Given the description of an element on the screen output the (x, y) to click on. 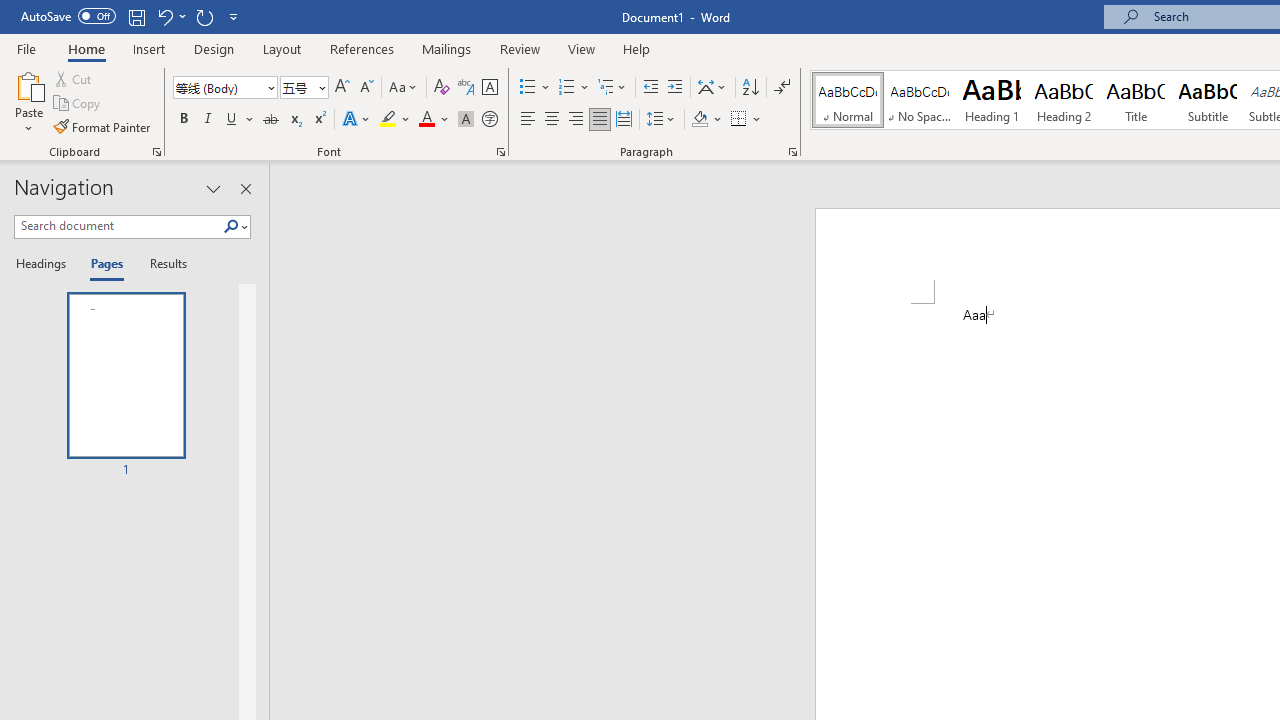
Show/Hide Editing Marks (781, 87)
Subtitle (1208, 100)
Font Color Red (426, 119)
Distributed (623, 119)
Justify (599, 119)
Change Case (404, 87)
Decrease Indent (650, 87)
Bullets (535, 87)
Review (520, 48)
Borders (746, 119)
Enclose Characters... (489, 119)
Help (637, 48)
